Given the description of an element on the screen output the (x, y) to click on. 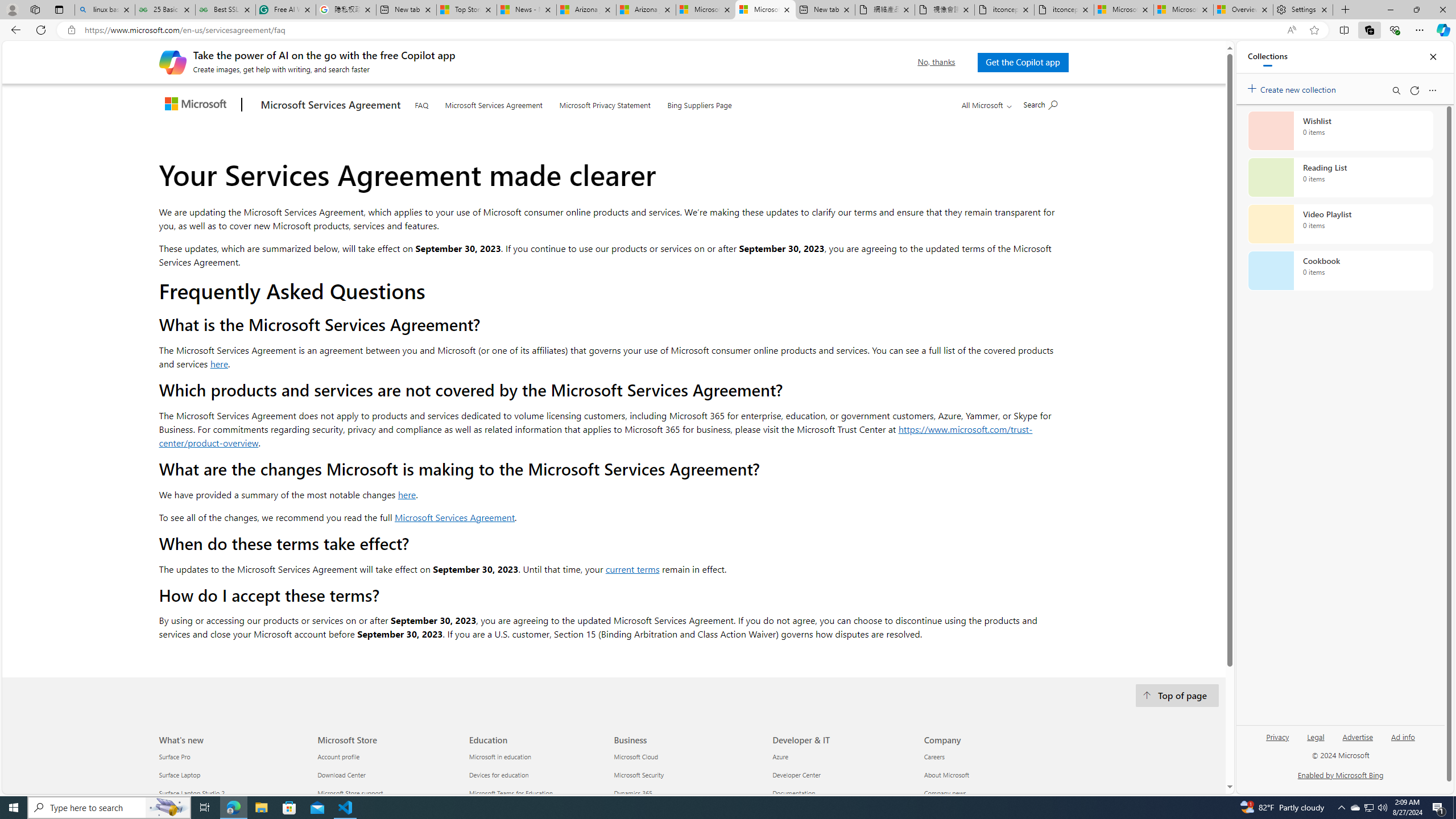
Microsoft Store support Microsoft Store (349, 792)
Microsoft Security Business (637, 774)
Surface Pro (231, 756)
Best SSL Certificates Provider in India - GeeksforGeeks (225, 9)
Surface Laptop (231, 774)
Developer Center (840, 774)
Microsoft Privacy Statement (604, 103)
Careers (992, 756)
Top of page (1176, 695)
